Given the description of an element on the screen output the (x, y) to click on. 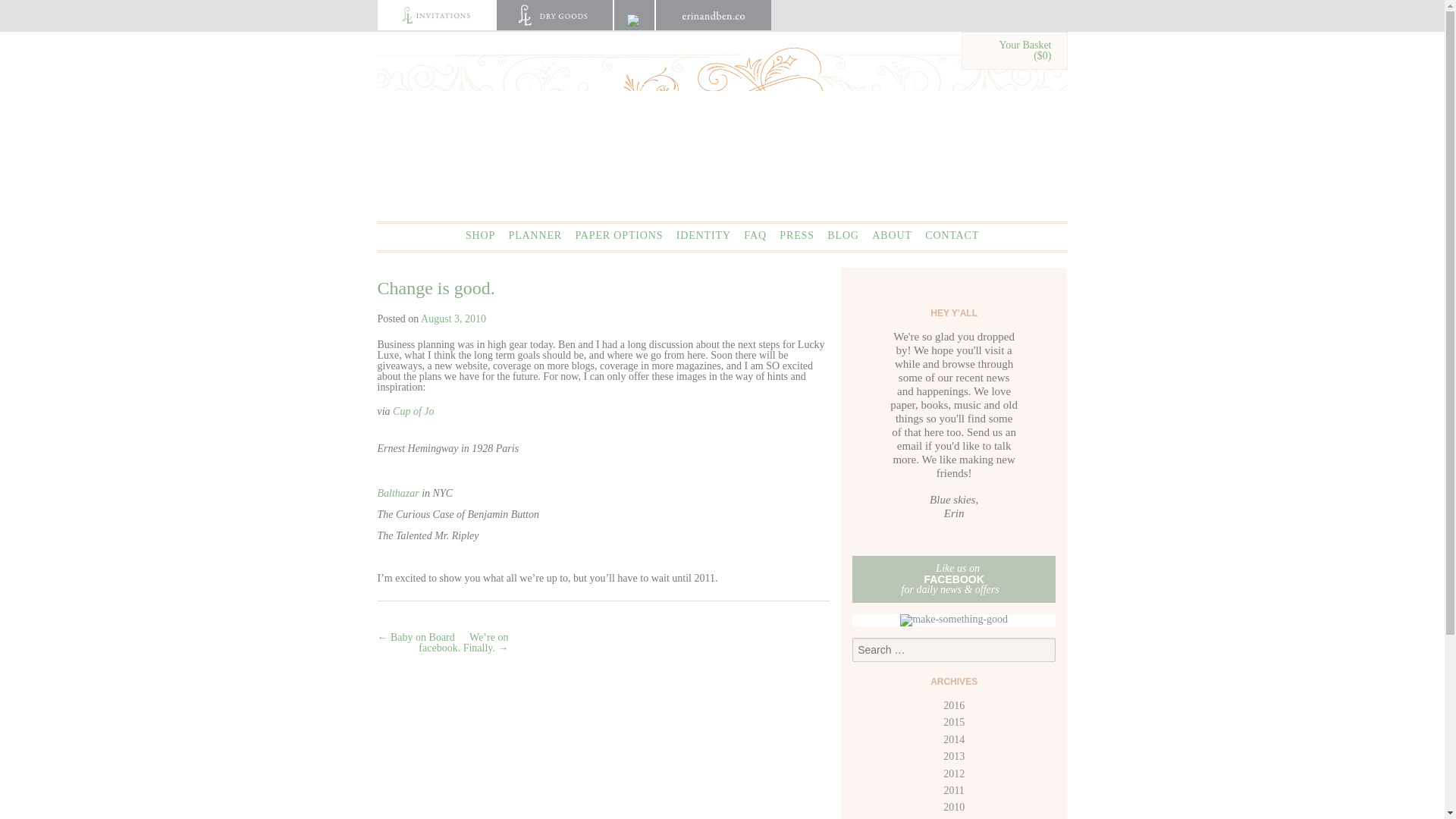
Cup of Jo (413, 410)
SHOP (480, 235)
CONTACT (951, 235)
FAQ (755, 235)
August 3, 2010 (453, 318)
BLOG (843, 235)
2016 (953, 705)
Balthazar (398, 492)
IDENTITY (703, 235)
4:29 pm (453, 318)
PAPER OPTIONS (618, 235)
PLANNER (535, 235)
PRESS (795, 235)
2015 (953, 722)
ABOUT (891, 235)
